Given the description of an element on the screen output the (x, y) to click on. 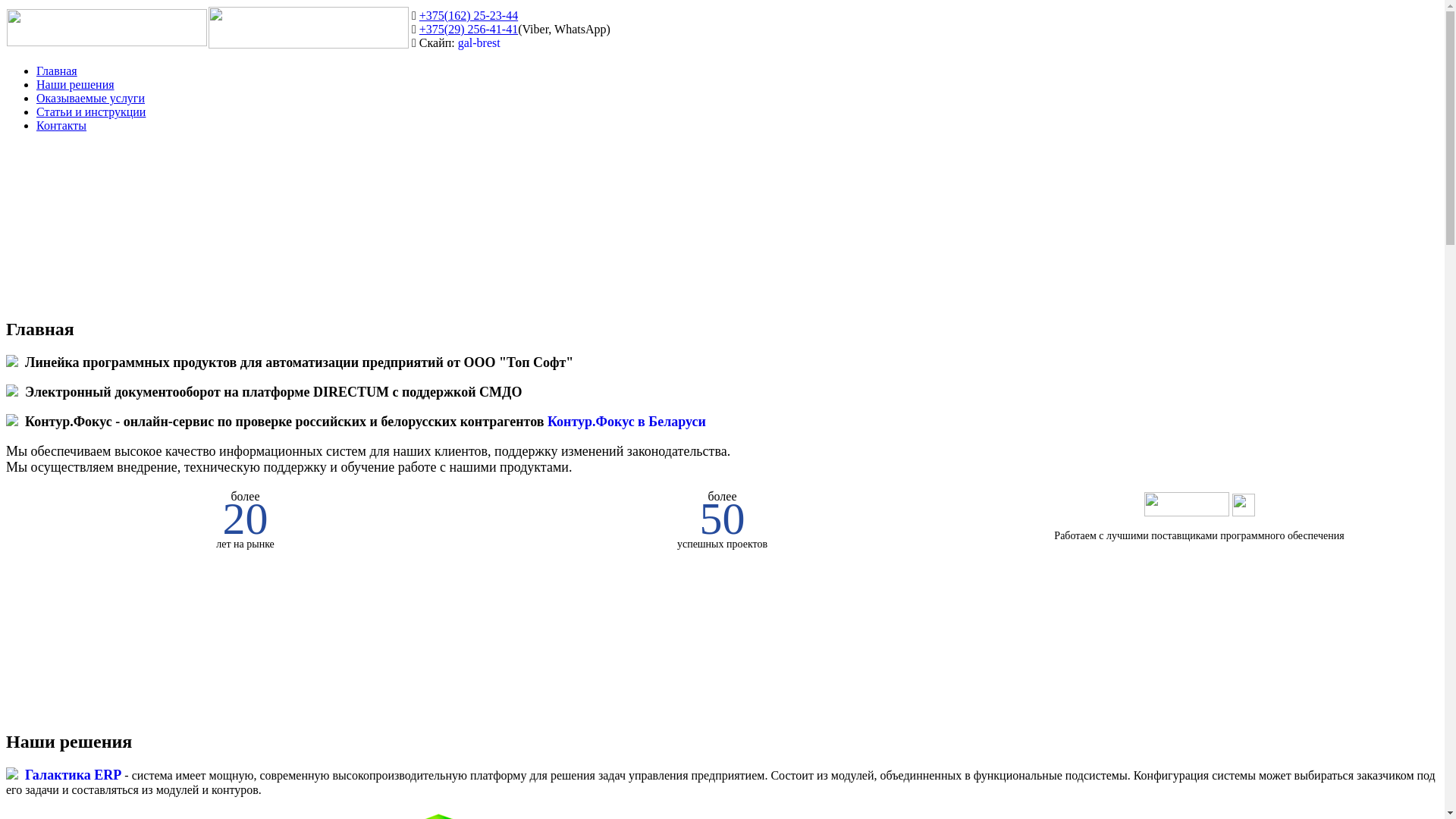
+375(29) 256-41-41 Element type: text (468, 28)
gal-brest Element type: text (479, 42)
+375(162) 25-23-44 Element type: text (468, 15)
